Given the description of an element on the screen output the (x, y) to click on. 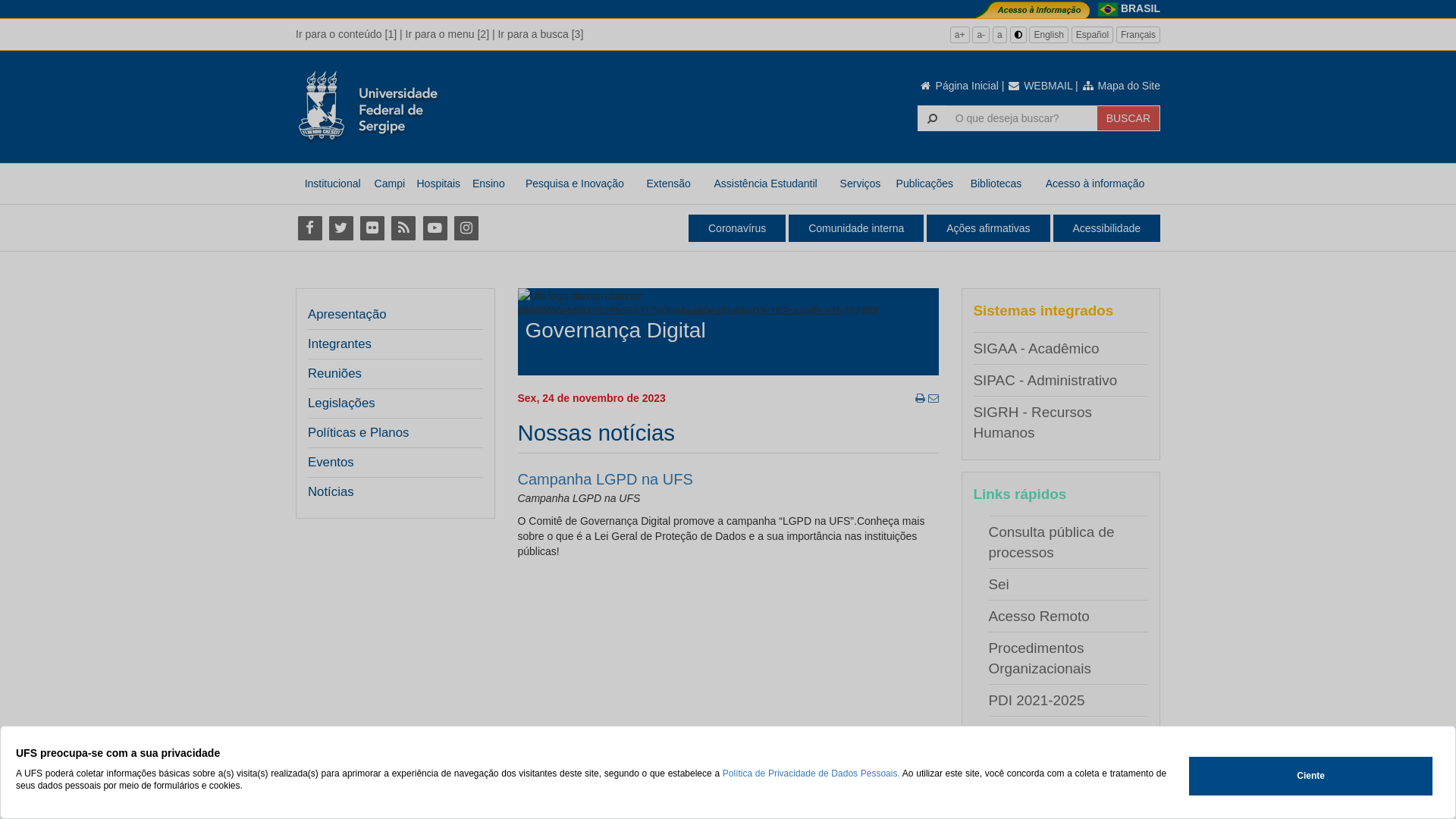
Acesso Remoto Element type: text (1038, 616)
Campi Element type: text (389, 183)
Instagram Element type: text (465, 227)
Institucional Element type: text (332, 183)
Ensino Element type: text (488, 183)
English Element type: text (1048, 34)
Ir para a busca [3] Element type: text (540, 34)
Mapa do Site Element type: text (1120, 85)
Bibliotecas Element type: text (995, 183)
Acessibilidade Element type: text (1106, 227)
Comunidade interna Element type: text (855, 227)
Campanha LGPD na UFS Element type: text (604, 478)
Facebook Element type: text (309, 227)
Sei Element type: text (998, 584)
Telefones Element type: text (1019, 795)
BRASIL Element type: text (1140, 8)
a- Element type: text (980, 34)
Eventos Element type: text (330, 462)
Twitter Element type: text (340, 227)
a+ Element type: text (959, 34)
Agenda do Reitor Element type: text (1044, 732)
a Element type: text (999, 34)
SIGRH - Recursos Humanos Element type: text (1032, 422)
Hospitais Element type: text (438, 183)
Ir para o menu [2] Element type: text (447, 34)
PDI 2021-2025 Element type: text (1036, 700)
WEBMAIL Element type: text (1039, 85)
Agenda do Vice-Reitor Element type: text (1060, 763)
BUSCAR Element type: text (1128, 118)
Youtube Element type: text (434, 227)
RSS Element type: text (403, 227)
SIPAC - Administrativo Element type: text (1045, 380)
Procedimentos Organizacionais Element type: text (1039, 658)
Integrantes Element type: text (339, 343)
Flickr Element type: text (371, 227)
